Given the description of an element on the screen output the (x, y) to click on. 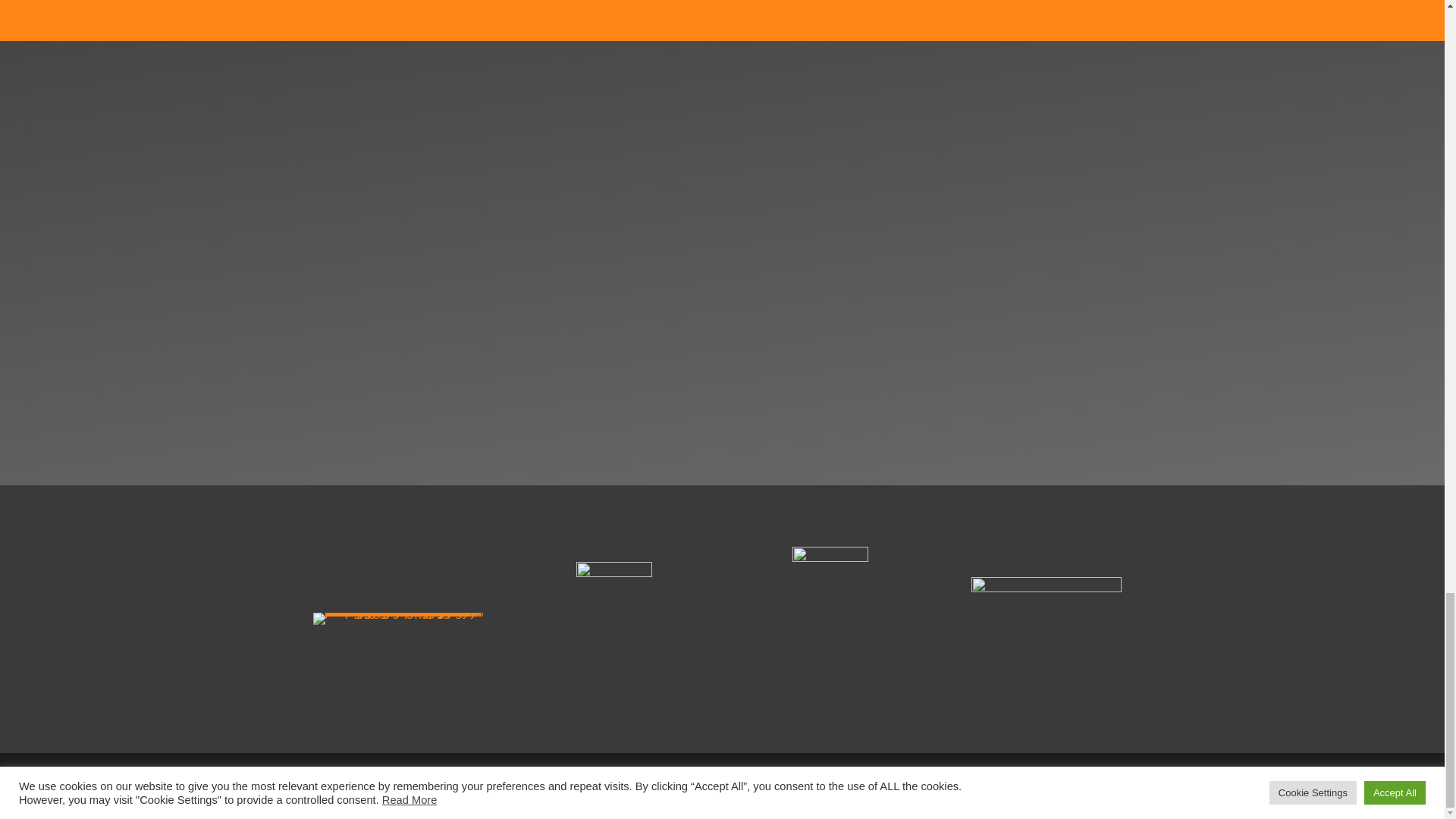
Amy Richards Online (505, 785)
Privacy Policy (597, 785)
